Given the description of an element on the screen output the (x, y) to click on. 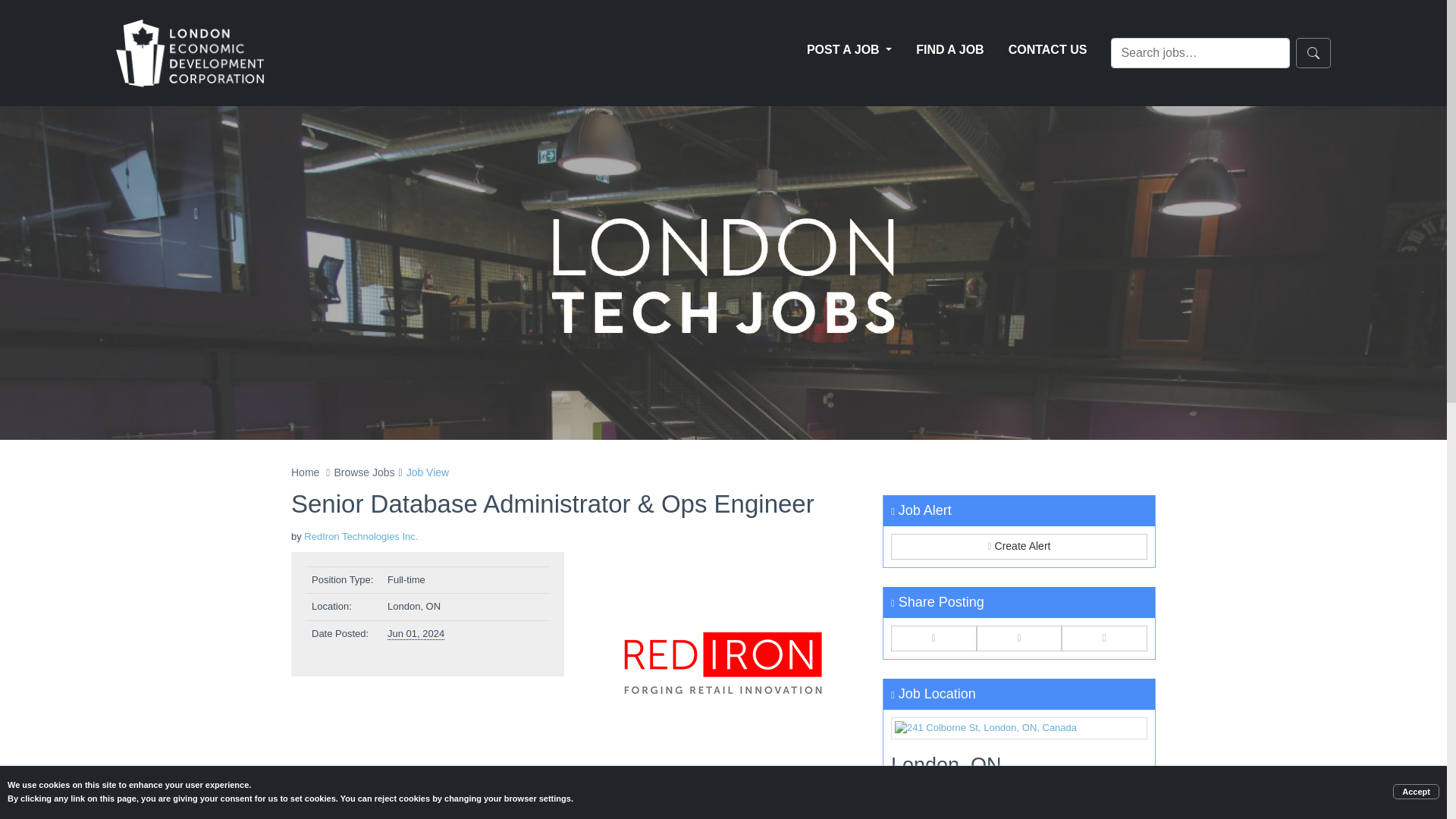
RedIron Technologies Inc. (360, 536)
Home (304, 472)
Create Alert (1019, 546)
241 Colborne St, London, ON, Canada (1019, 728)
CONTACT US (1047, 49)
Accept (1416, 791)
POST A JOB (849, 49)
FIND A JOB (949, 49)
RedIron Technologies Inc. (723, 663)
Browse Jobs (363, 472)
